Given the description of an element on the screen output the (x, y) to click on. 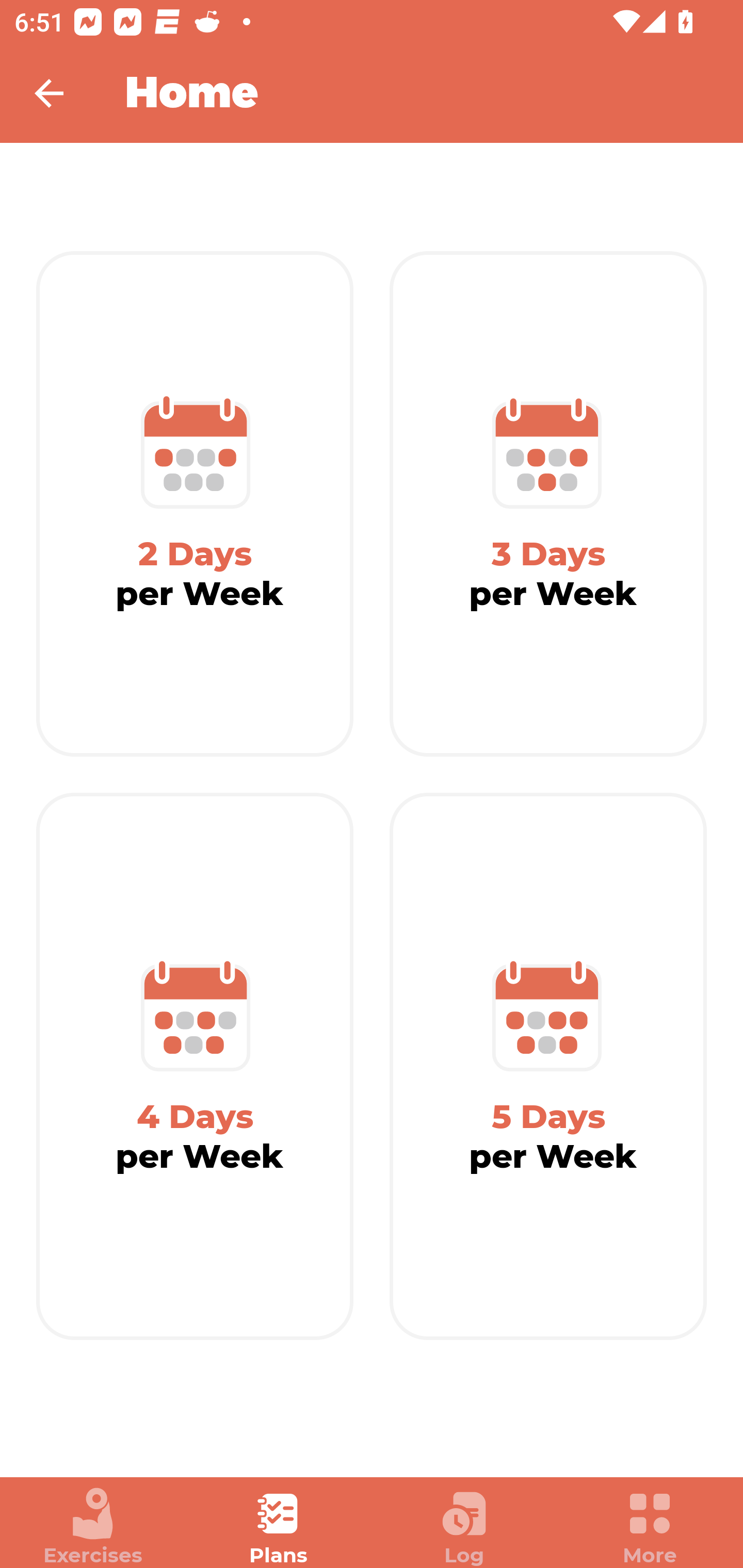
Back (62, 92)
2 Days
 per Week (194, 503)
3 Days
 per Week (547, 503)
4 Days
 per Week (194, 1066)
5 Days
 per Week (547, 1066)
Exercises (92, 1527)
Plans (278, 1527)
Log (464, 1527)
More (650, 1527)
